Given the description of an element on the screen output the (x, y) to click on. 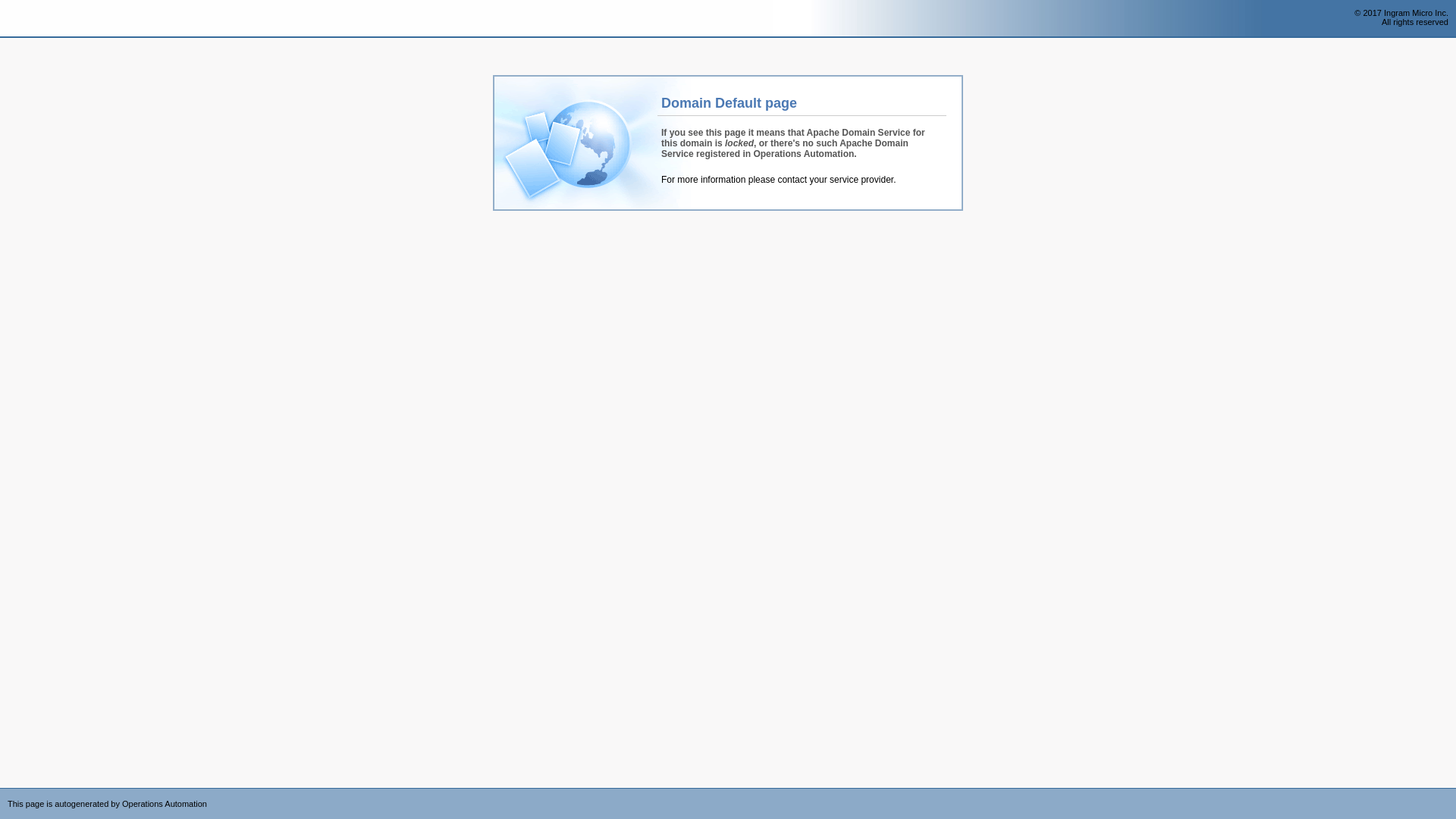
Operations Automation Element type: text (39, 18)
Powered by CloudBlue Commerce Element type: hover (1447, 792)
